Given the description of an element on the screen output the (x, y) to click on. 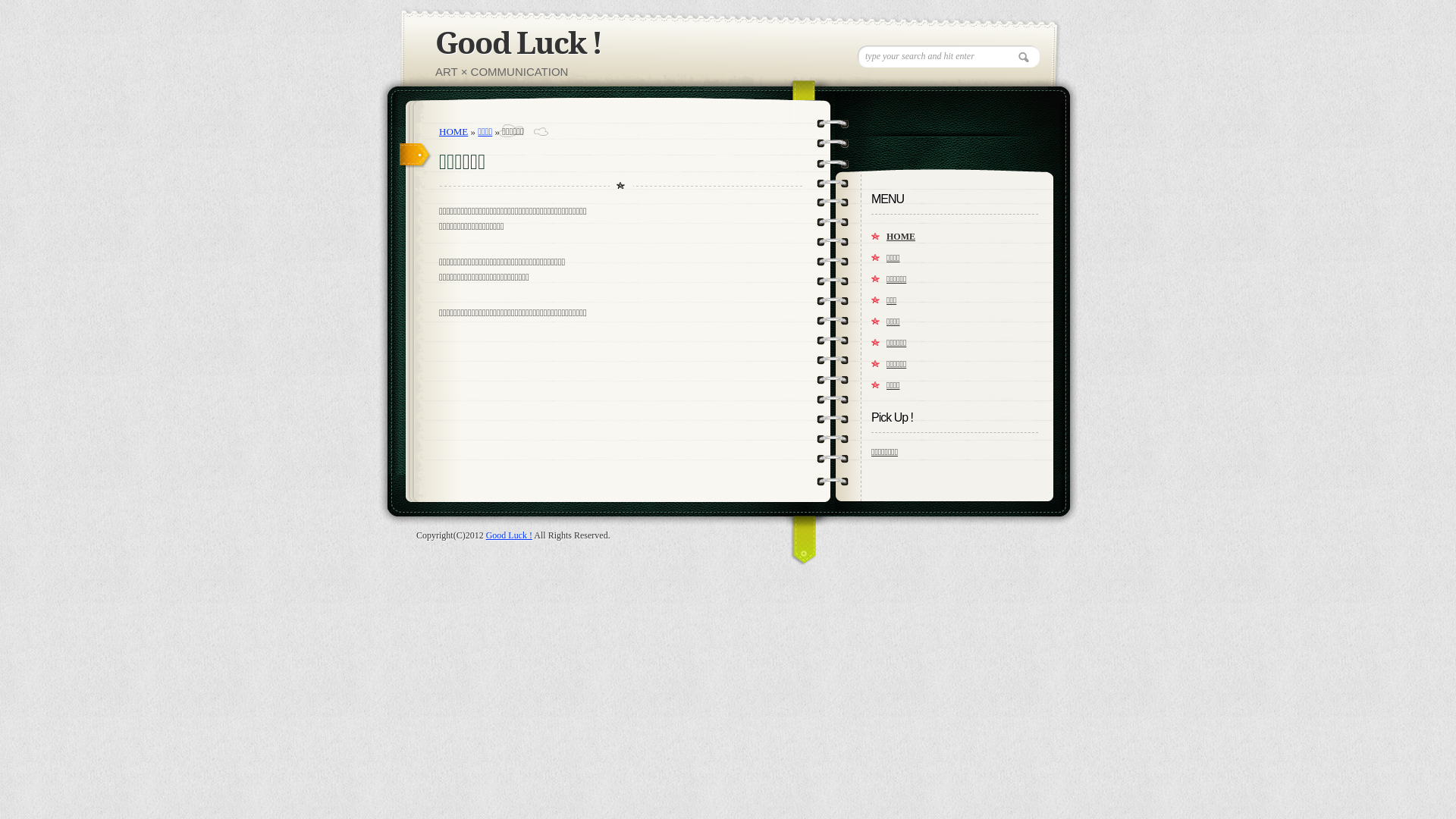
Good Luck ! Element type: text (518, 43)
HOME Element type: text (453, 131)
Good Luck ! Element type: text (509, 535)
HOME Element type: text (962, 236)
